Given the description of an element on the screen output the (x, y) to click on. 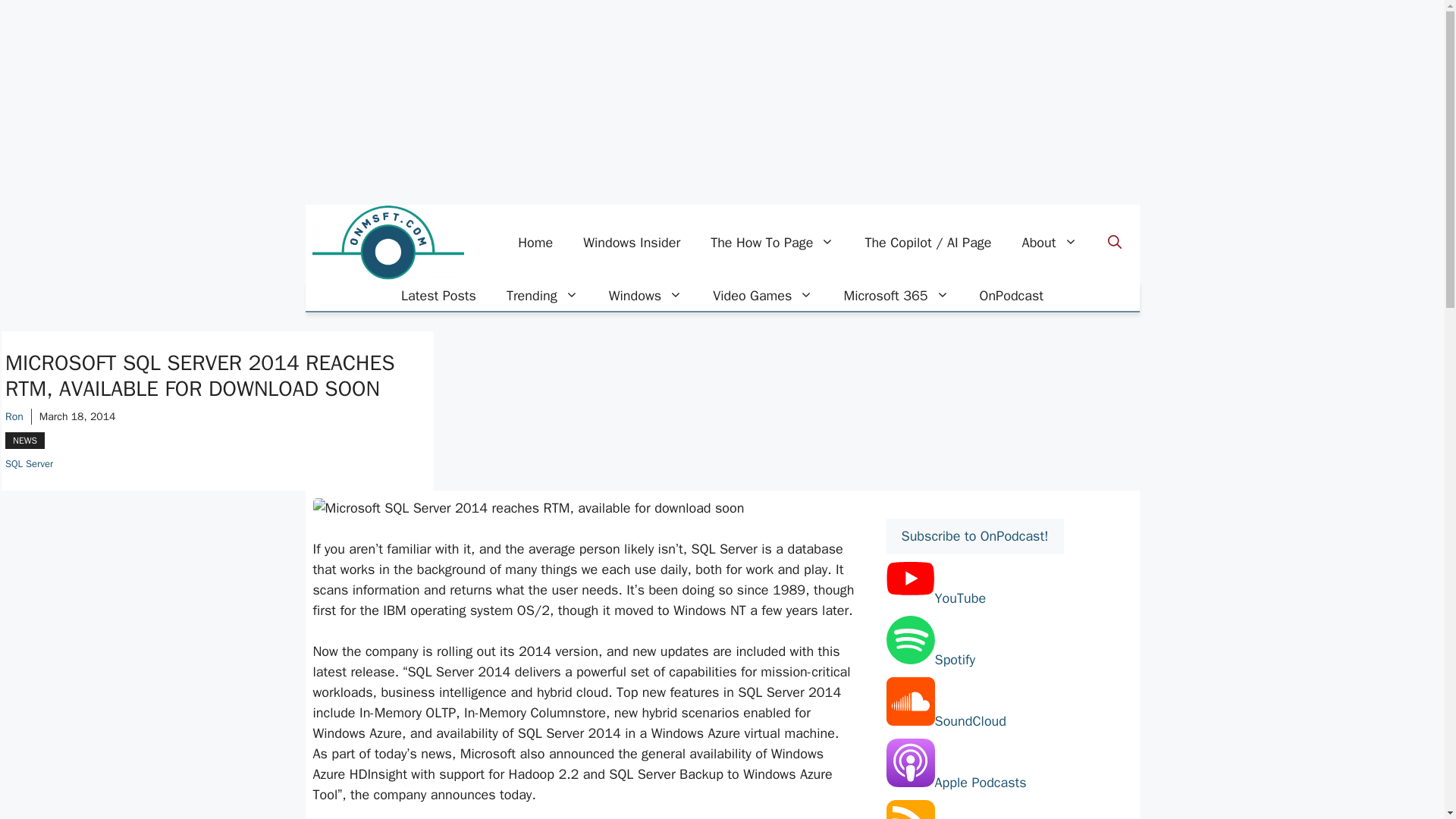
Video Games (762, 295)
Home (534, 242)
About (1050, 242)
Windows Insider (631, 242)
Latest Posts (438, 295)
Trending (543, 295)
Windows (645, 295)
The How To Page (771, 242)
